Given the description of an element on the screen output the (x, y) to click on. 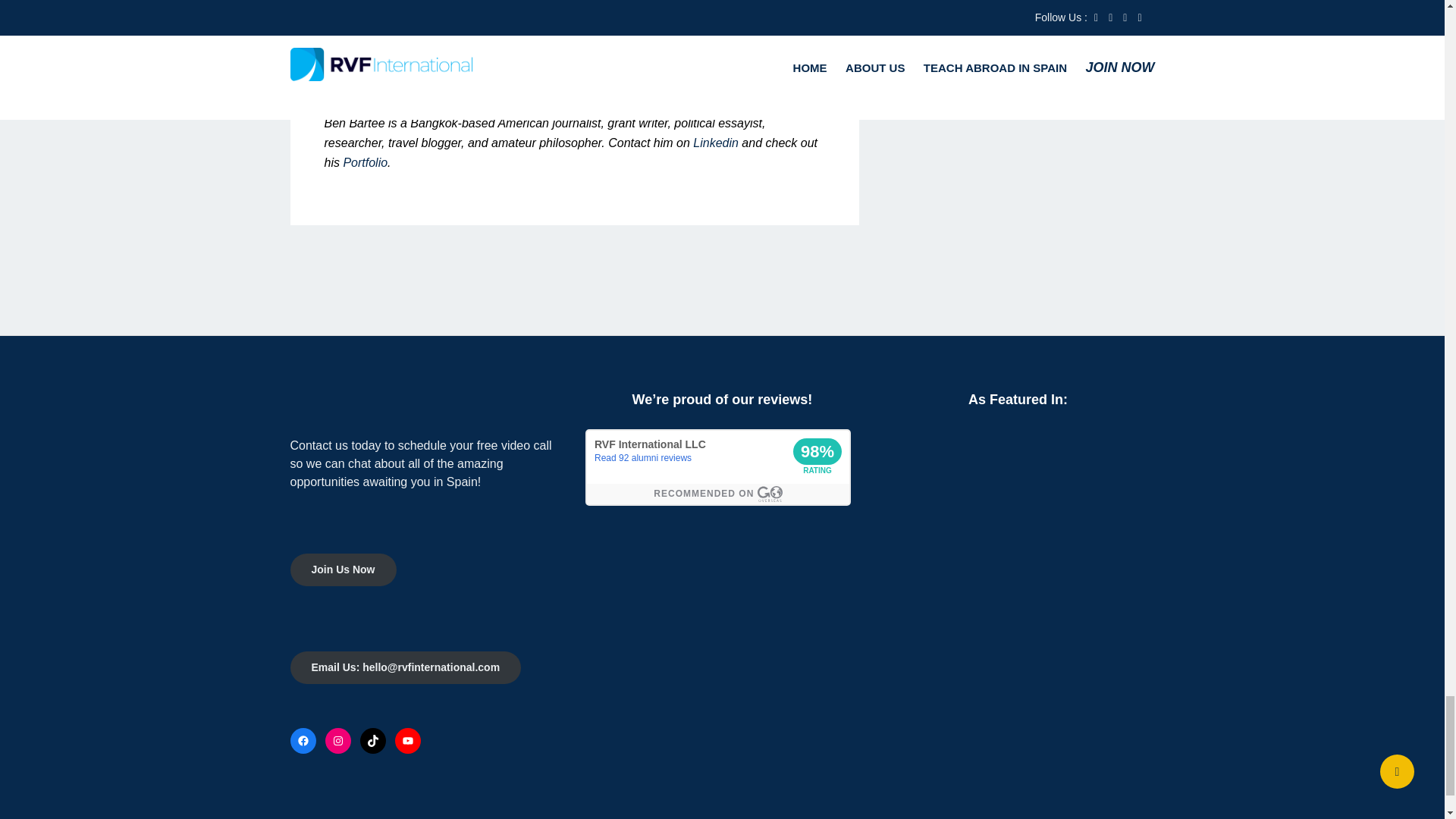
As Featured In: (1017, 465)
